Given the description of an element on the screen output the (x, y) to click on. 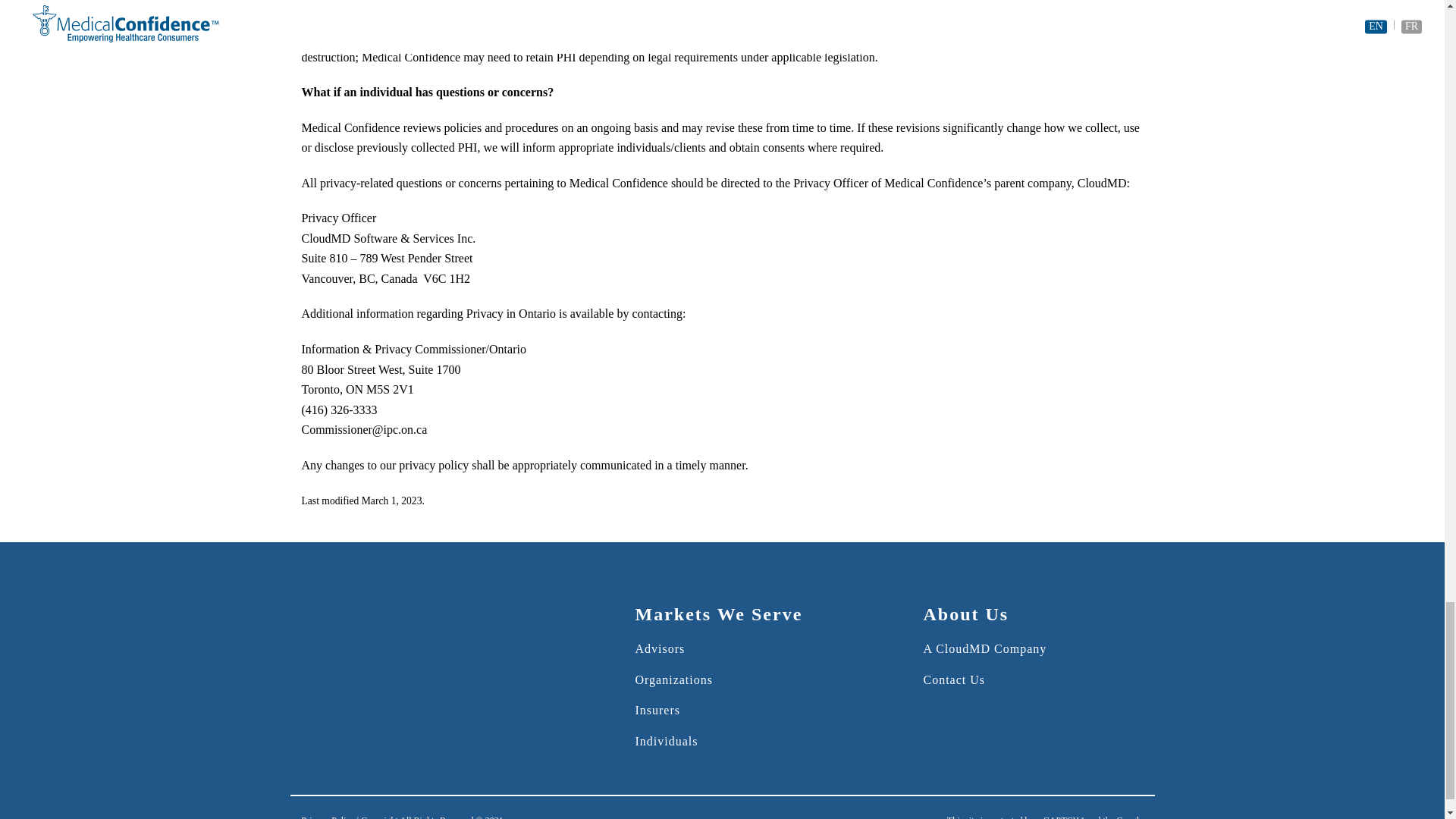
A CloudMD Company (984, 648)
Organizations (672, 680)
Contact Us (954, 680)
Markets We Serve (718, 614)
Privacy Policy (328, 816)
Insurers (656, 710)
Individuals (665, 741)
About Us (966, 614)
Advisors (659, 648)
